Given the description of an element on the screen output the (x, y) to click on. 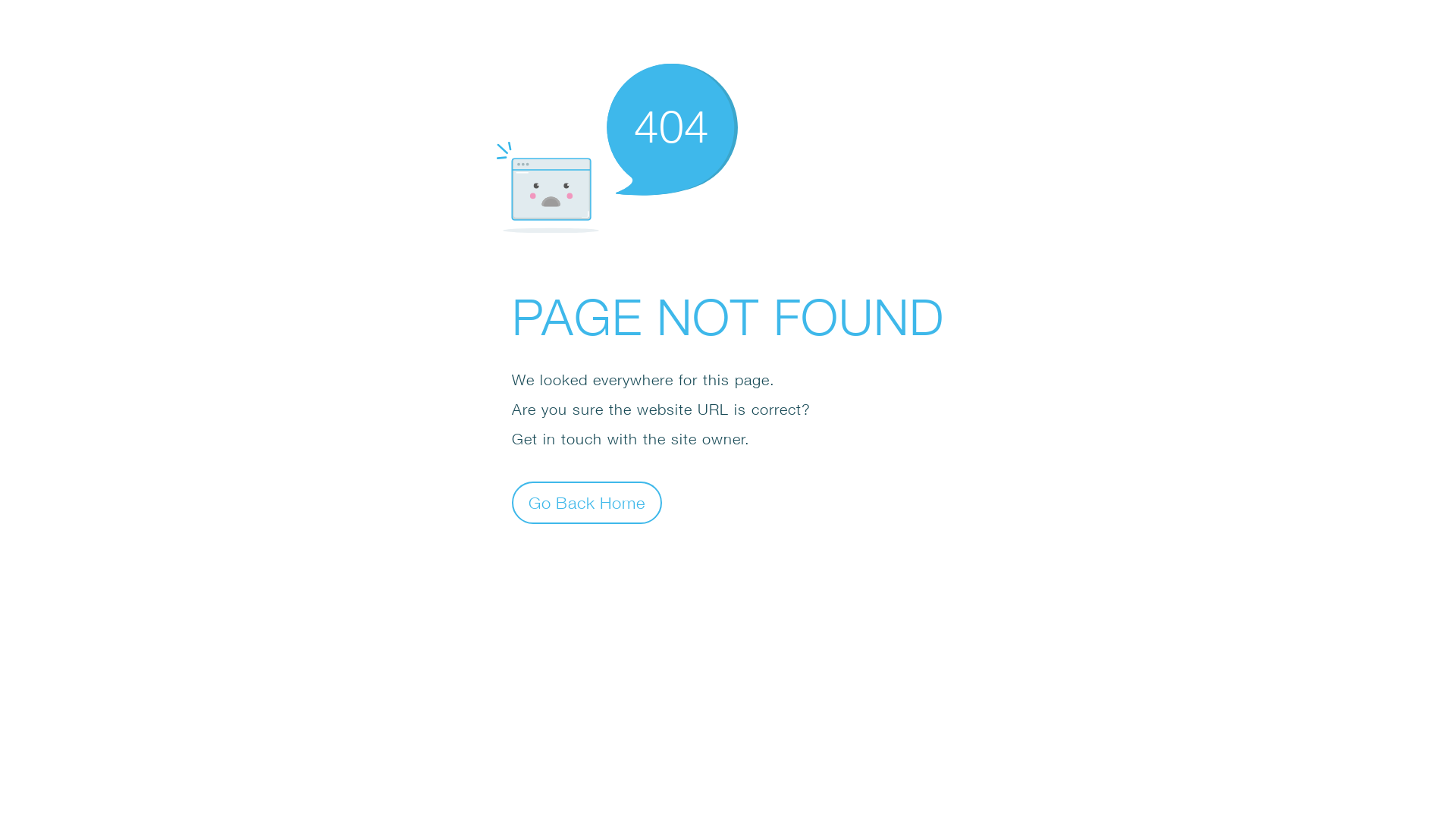
Go Back Home Element type: text (586, 502)
